Given the description of an element on the screen output the (x, y) to click on. 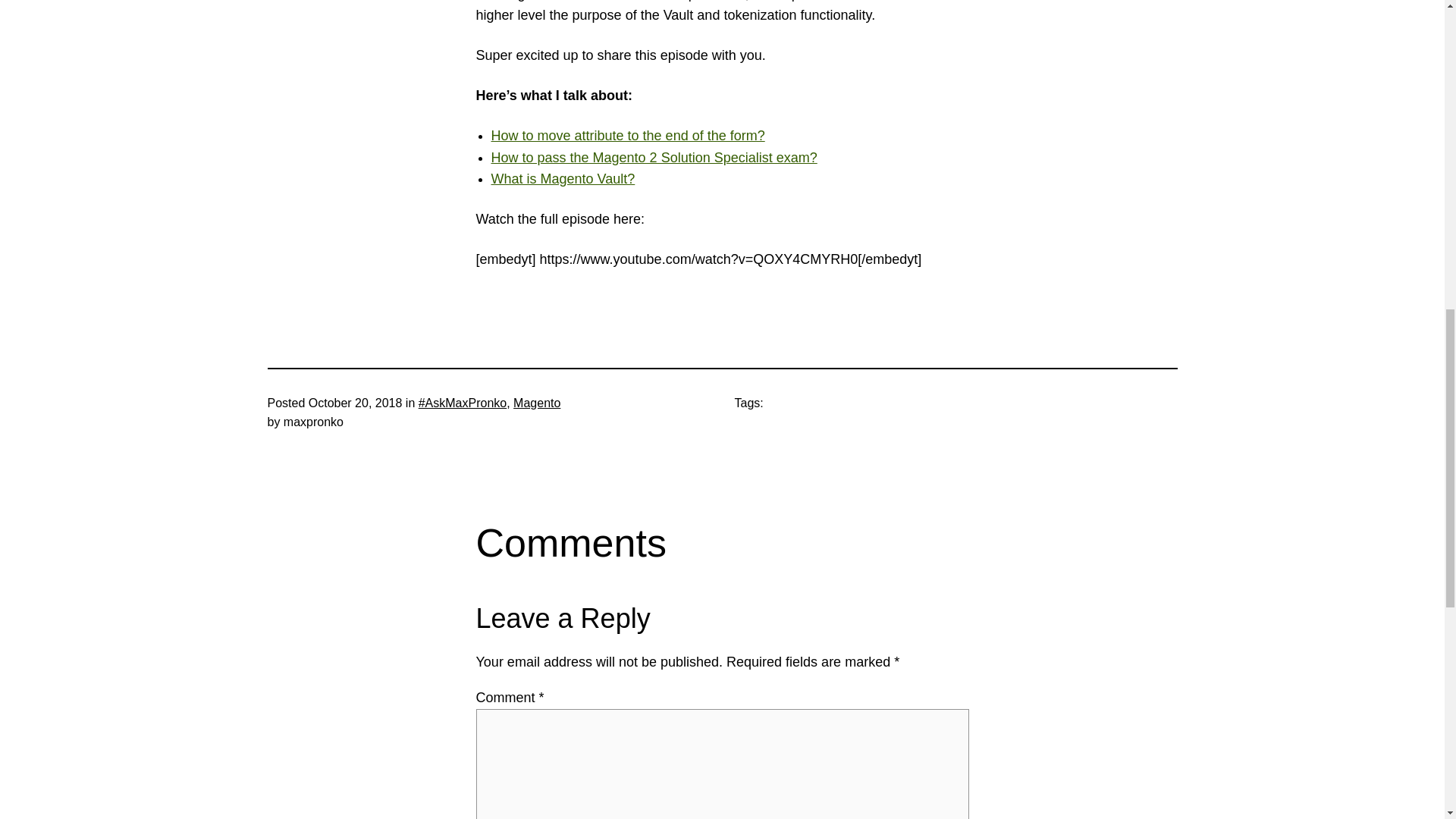
How to move attribute to the end of the form? (628, 135)
Magento (536, 402)
What is Magento Vault? (563, 178)
How to pass the Magento 2 Solution Specialist exam? (654, 157)
